Given the description of an element on the screen output the (x, y) to click on. 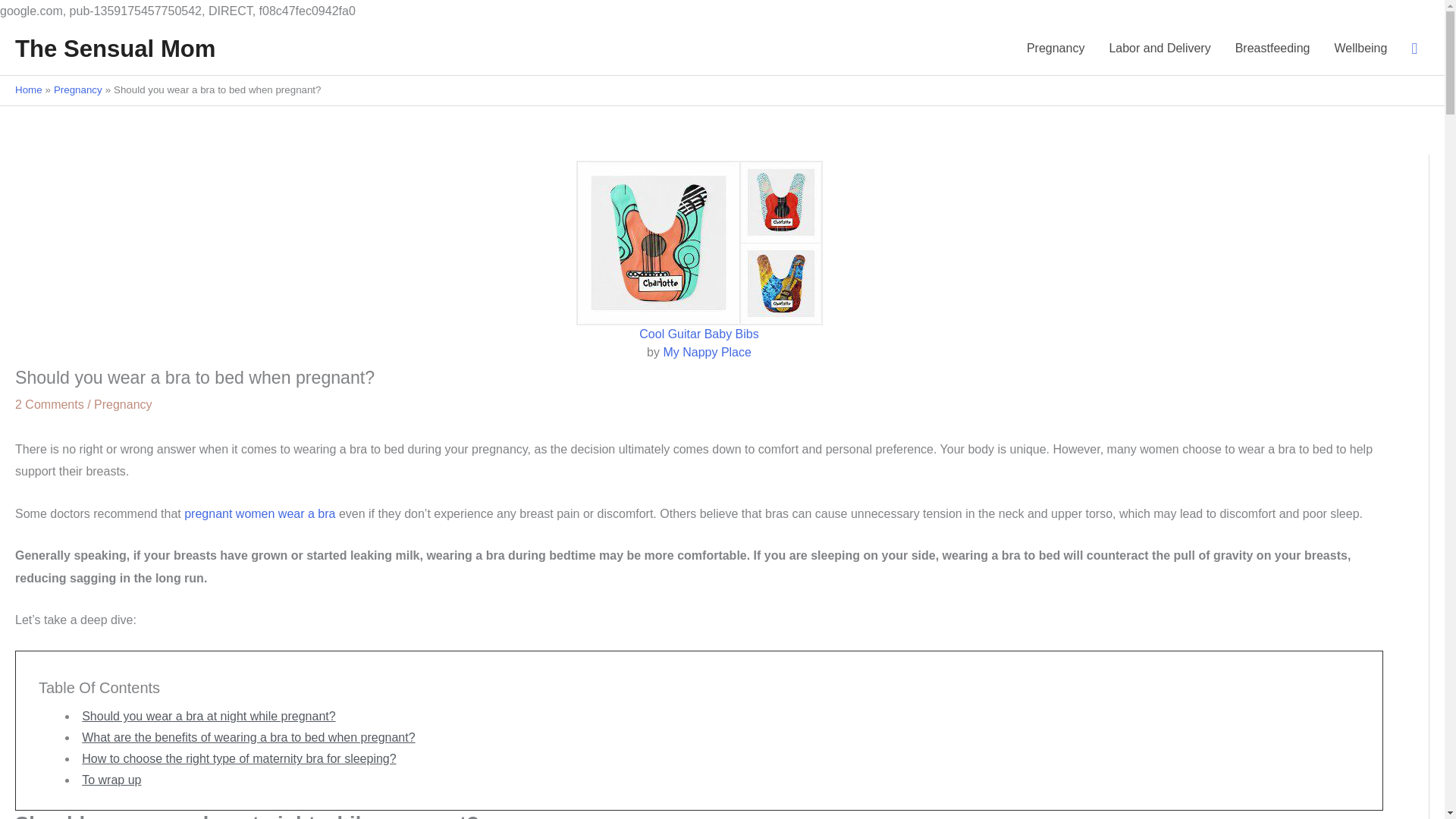
Wellbeing (1360, 48)
What are the benefits of wearing a bra to bed when pregnant? (247, 737)
How to choose the right type of maternity bra for sleeping? (238, 758)
Pregnancy (77, 89)
pregnant women wear a bra (259, 513)
To wrap up (111, 779)
Breastfeeding (1272, 48)
Labor and Delivery (1159, 48)
Home (28, 89)
2 Comments (49, 404)
Cool Guitar Baby Bibs (698, 333)
Pregnancy (123, 404)
Pregnancy (1055, 48)
The Sensual Mom (114, 49)
My Nappy Place (706, 351)
